Given the description of an element on the screen output the (x, y) to click on. 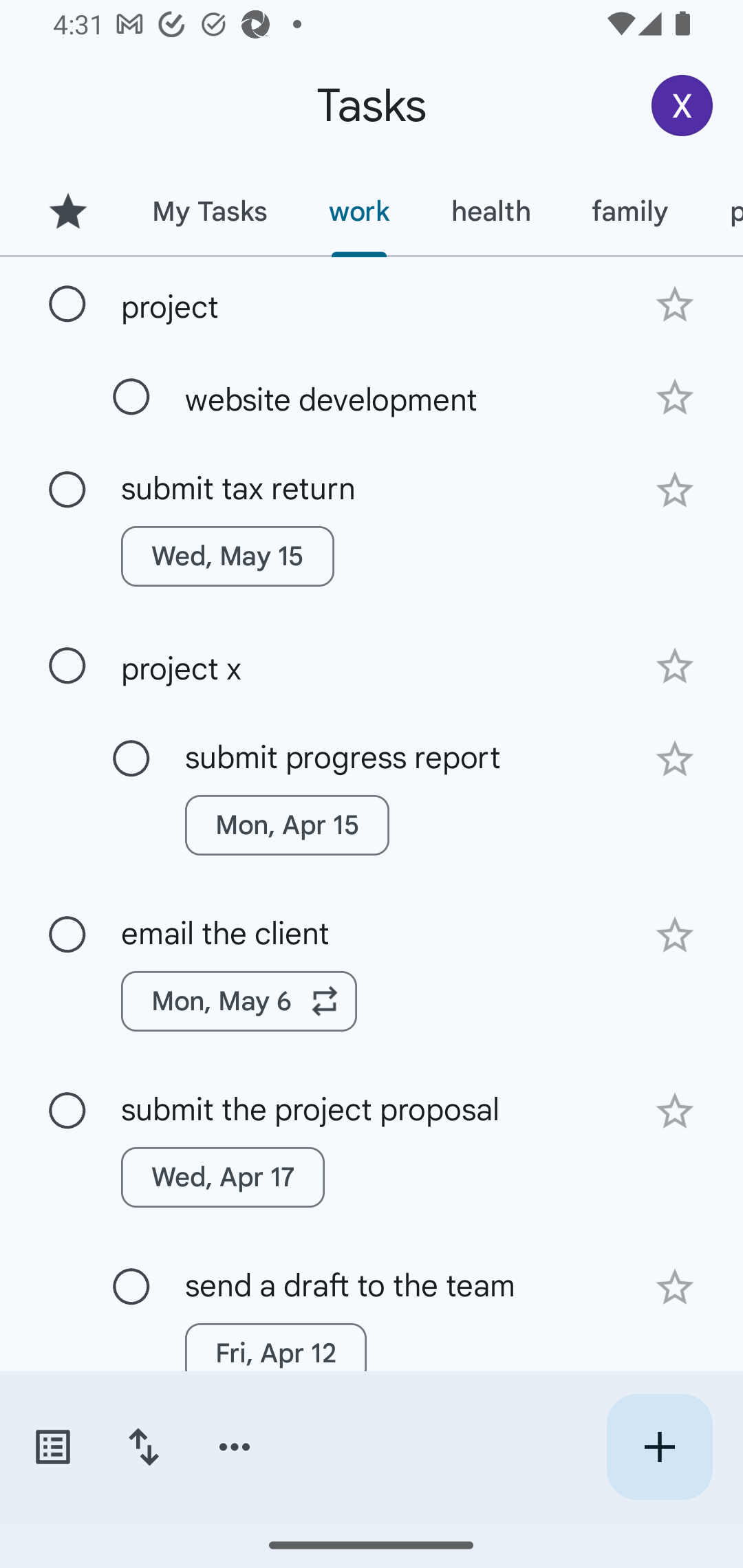
Starred (67, 211)
My Tasks (209, 211)
health (490, 211)
family (629, 211)
Add star (674, 303)
Mark as complete (67, 304)
Add star (674, 397)
Mark as complete (131, 397)
Add star (674, 490)
Mark as complete (67, 489)
Wed, May 15 (227, 556)
Add star (674, 665)
Mark as complete (67, 666)
Add star (674, 758)
Mark as complete (131, 759)
Mon, Apr 15 (287, 824)
Add star (674, 935)
Mark as complete (67, 935)
Mon, May 6 (239, 1001)
Add star (674, 1111)
Mark as complete (67, 1110)
Wed, Apr 17 (222, 1177)
Add star (674, 1286)
Mark as complete (131, 1287)
Fri, Apr 12 (276, 1352)
Switch task lists (52, 1447)
Create new task (659, 1446)
Change sort order (143, 1446)
More options (234, 1446)
